Given the description of an element on the screen output the (x, y) to click on. 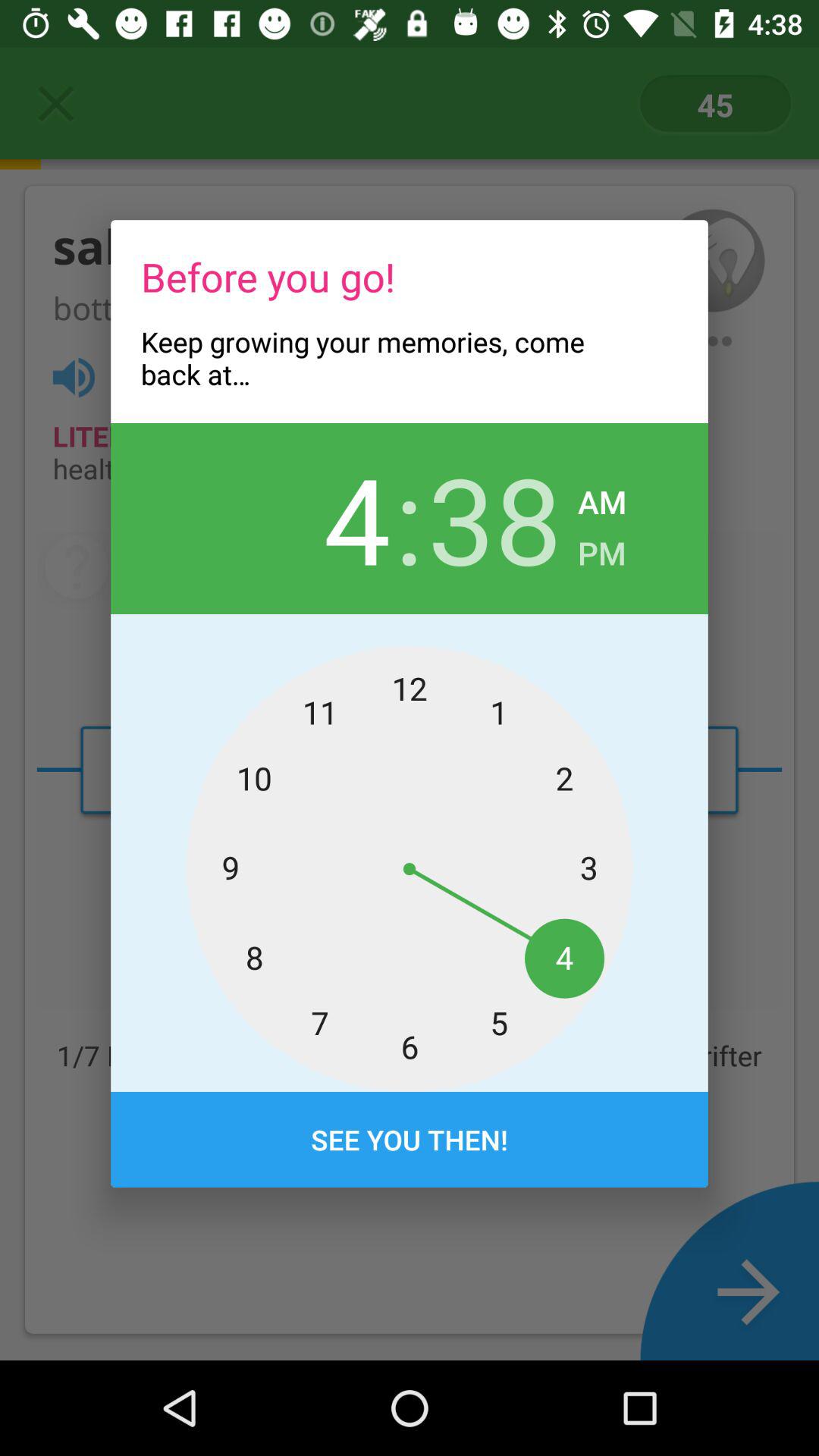
turn on the icon above the pm (601, 497)
